Given the description of an element on the screen output the (x, y) to click on. 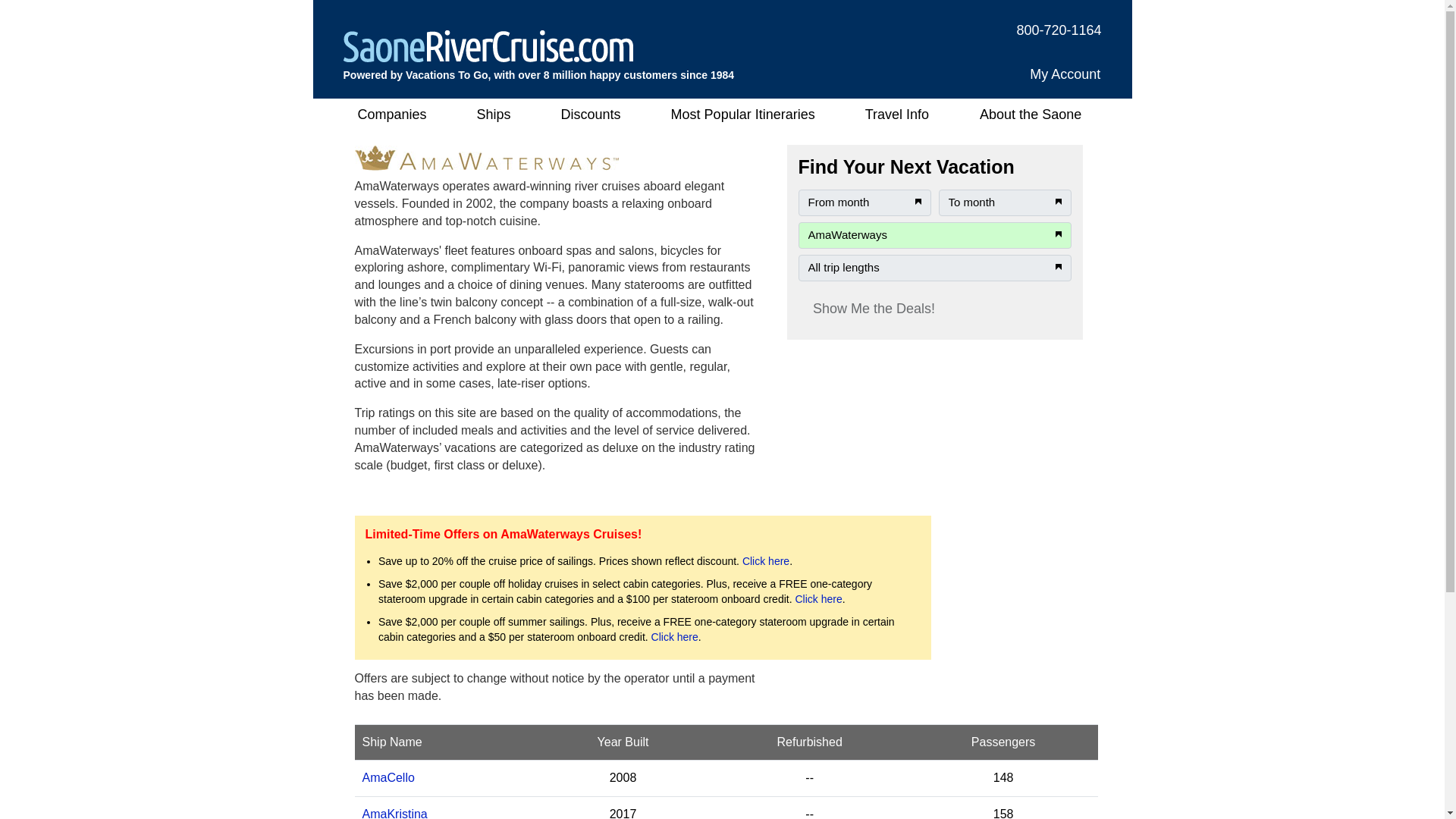
Ships (493, 114)
Travel Info (896, 114)
Click here (674, 636)
Companies (394, 114)
My Account (1064, 73)
About the Saone (1031, 114)
AmaCello (388, 777)
Show Me the Deals! (873, 308)
Show Me the Deals! (873, 308)
Click here (765, 561)
